Given the description of an element on the screen output the (x, y) to click on. 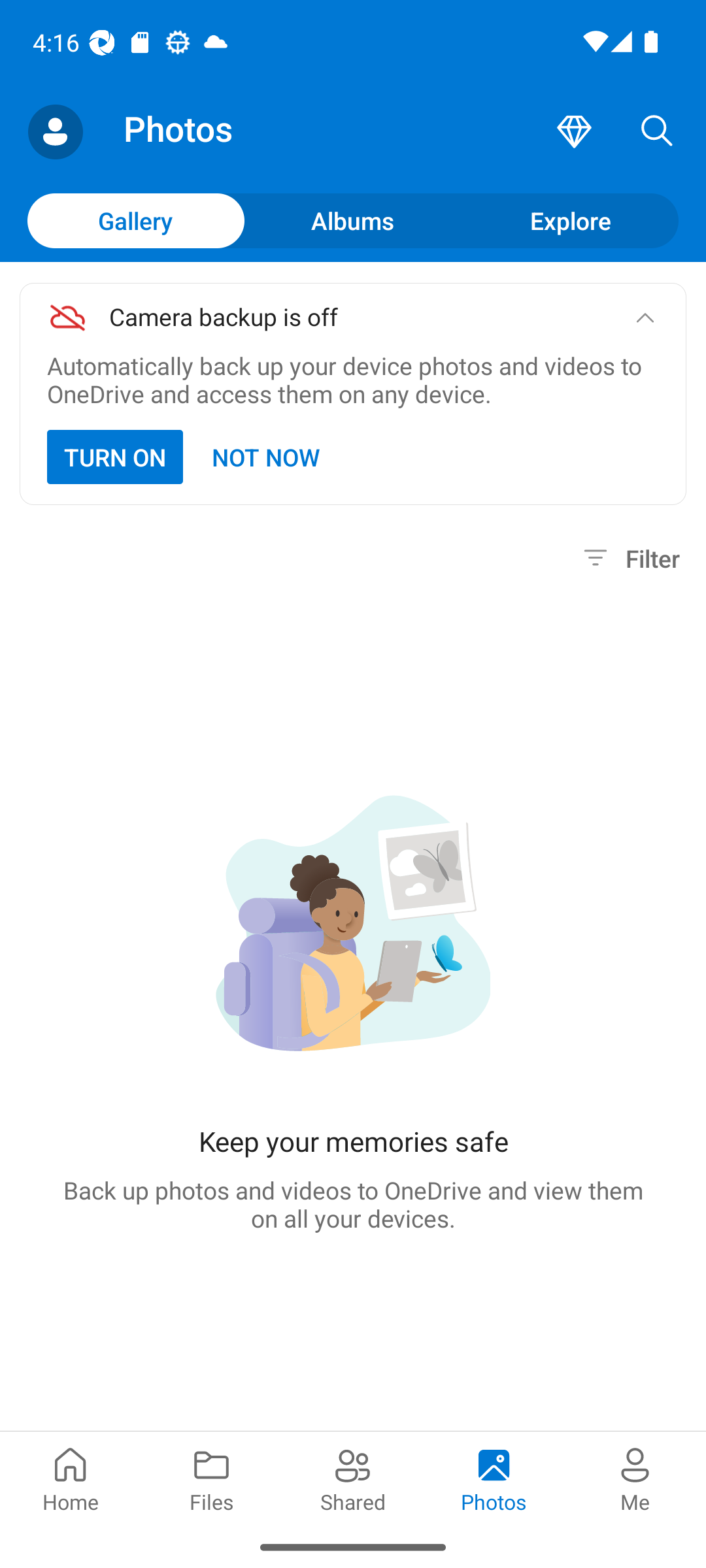
Account switcher (55, 131)
Premium button (574, 131)
Search button (656, 131)
Albums (352, 219)
Explore (569, 219)
Collapse camera status banner (645, 318)
TURN ON (114, 456)
NOT NOW (266, 456)
Filter (628, 557)
Home pivot Home (70, 1478)
Files pivot Files (211, 1478)
Shared pivot Shared (352, 1478)
Me pivot Me (635, 1478)
